Given the description of an element on the screen output the (x, y) to click on. 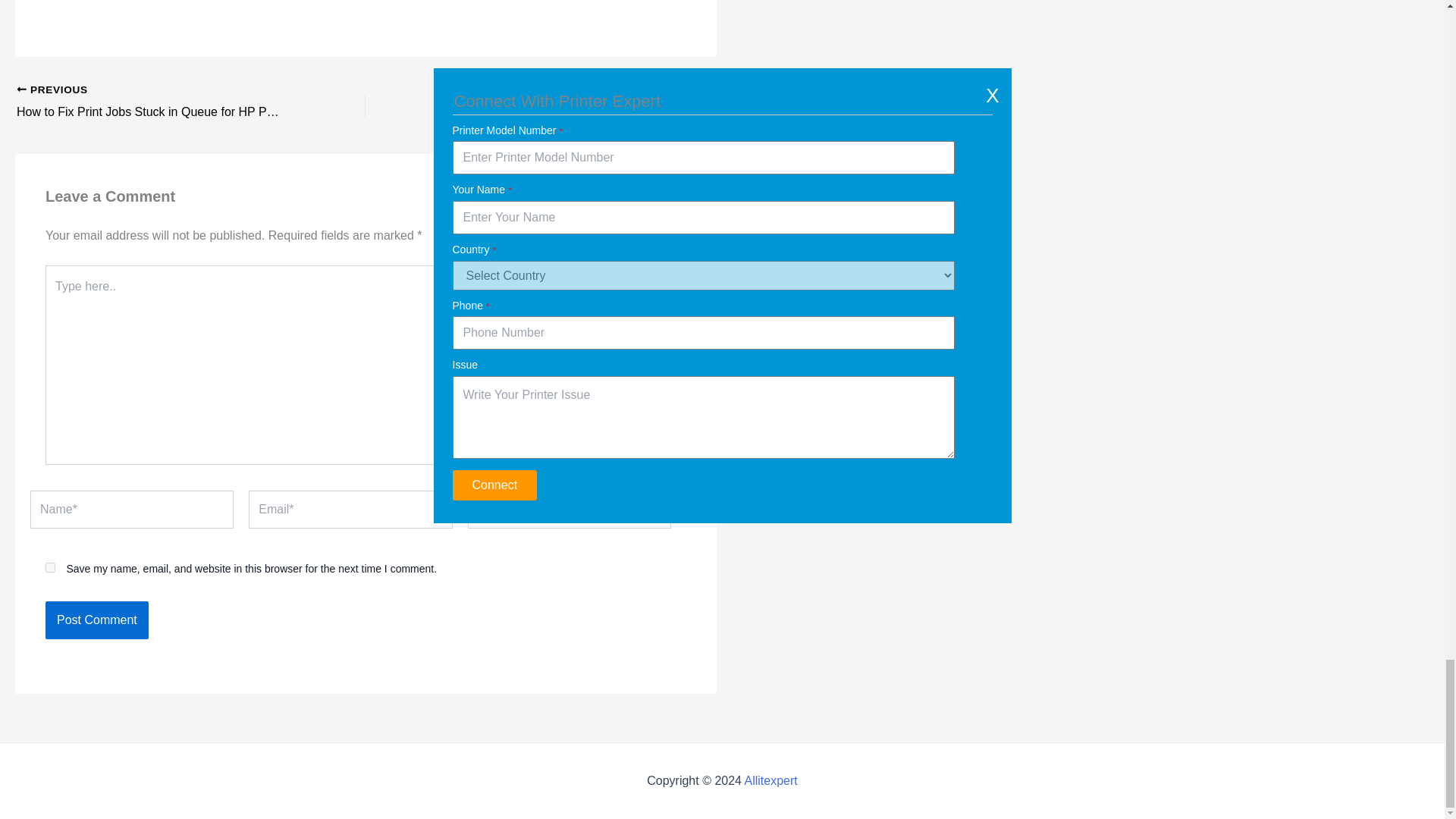
yes (50, 567)
How to Connect HP DeskJet 2700 to WiFi: A Complete Guide (573, 102)
Post Comment (96, 620)
How to Fix Print Jobs Stuck in Queue for HP Printers (156, 102)
Post Comment (96, 620)
